Given the description of an element on the screen output the (x, y) to click on. 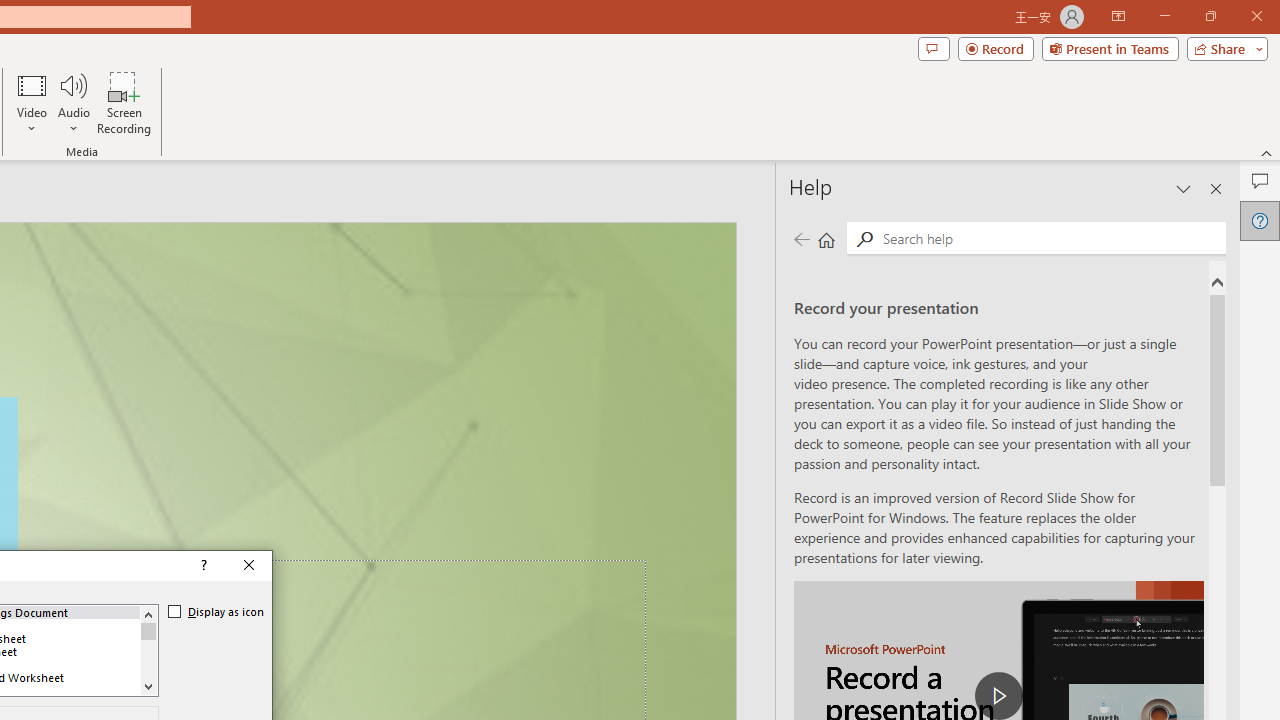
Context help (202, 565)
Previous page (801, 238)
Video (31, 102)
Display as icon (216, 611)
Screen Recording... (123, 102)
